Given the description of an element on the screen output the (x, y) to click on. 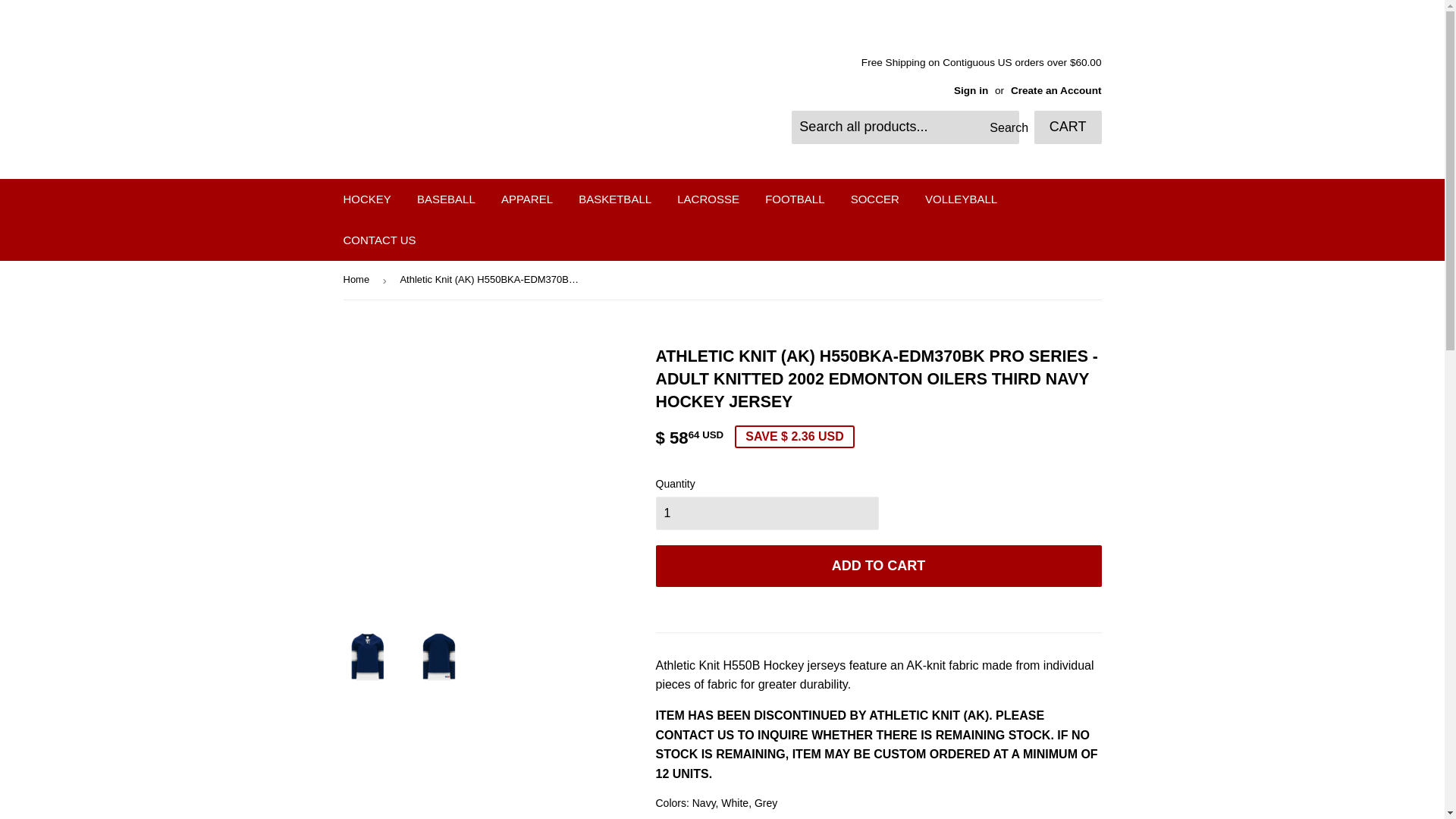
Sign in (970, 90)
Create an Account (1056, 90)
1 (766, 512)
CART (1067, 127)
Search (1002, 128)
